Given the description of an element on the screen output the (x, y) to click on. 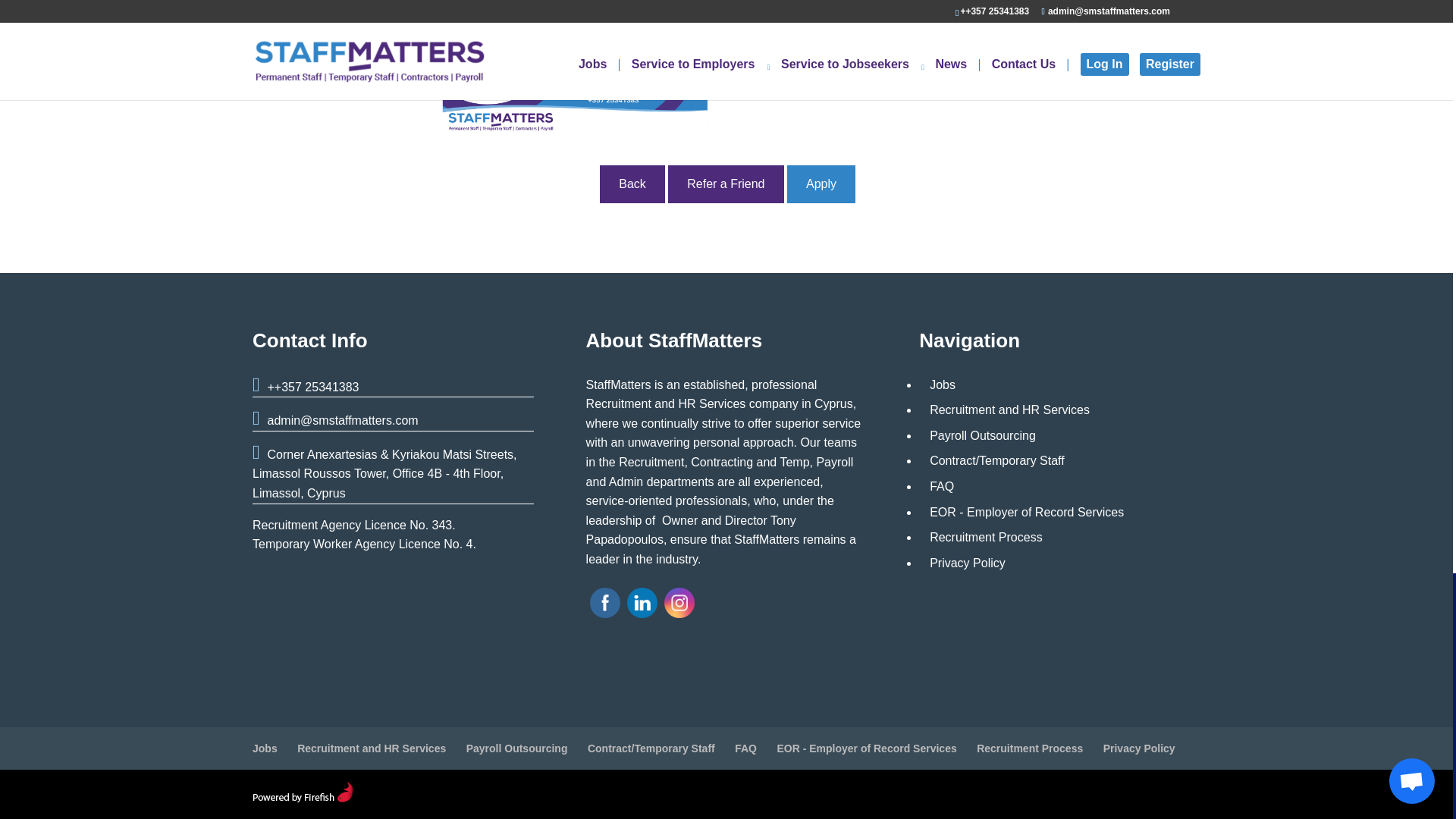
Instagram (679, 602)
Apply (821, 184)
Back (632, 184)
LinkedIn (641, 602)
Facebook (604, 602)
Recruitment Software - Firefish Software (302, 797)
Refer a Friend (725, 184)
